Given the description of an element on the screen output the (x, y) to click on. 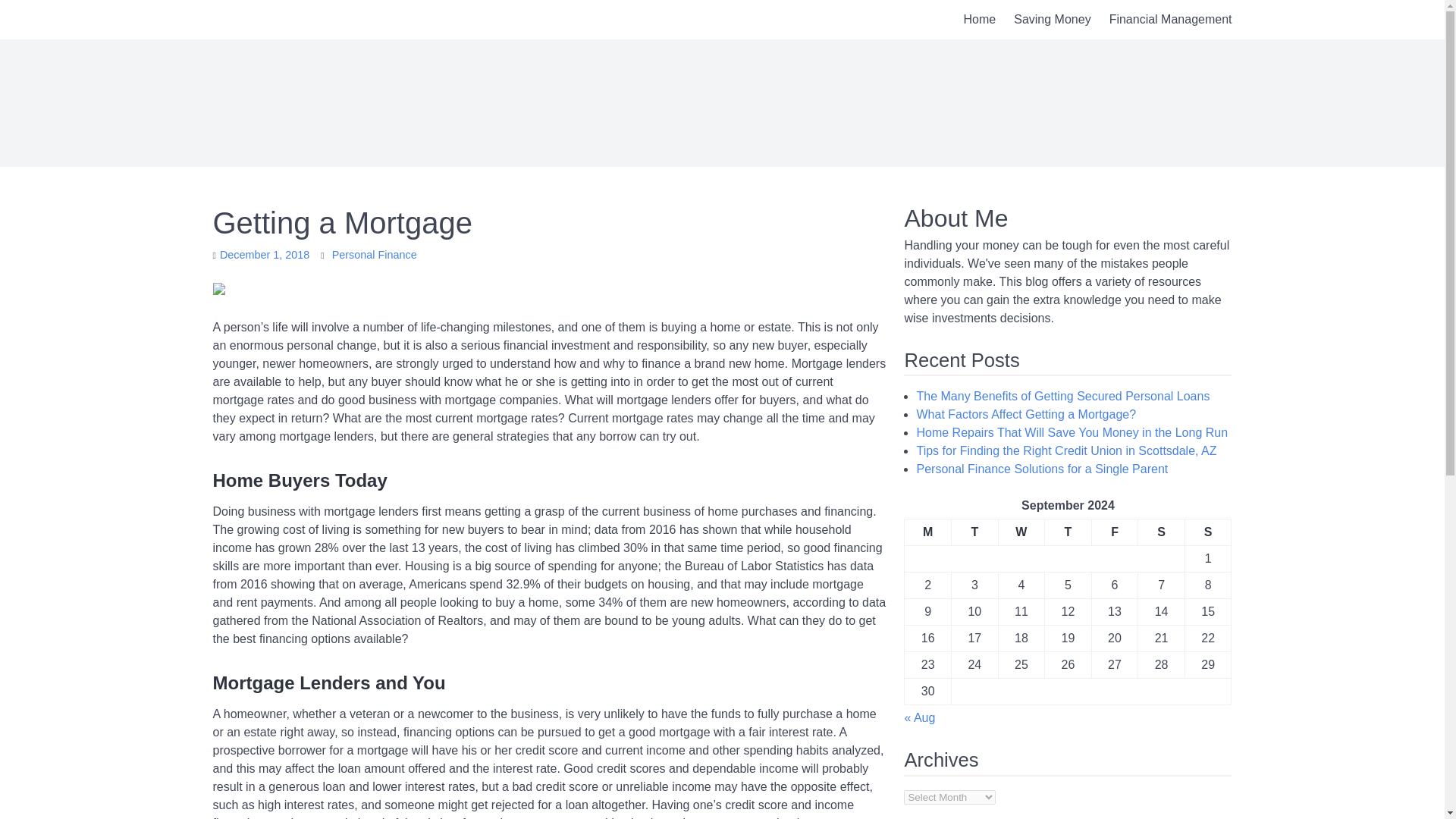
The Many Benefits of Getting Secured Personal Loans (1062, 395)
Personal Finance (373, 254)
Personal Finance Solutions for a Single Parent (1041, 468)
Friday (1114, 532)
Home Repairs That Will Save You Money in the Long Run (1071, 431)
Monday (928, 532)
Thursday (1068, 532)
Wednesday (1021, 532)
Sunday (1208, 532)
Saturday (1161, 532)
